Given the description of an element on the screen output the (x, y) to click on. 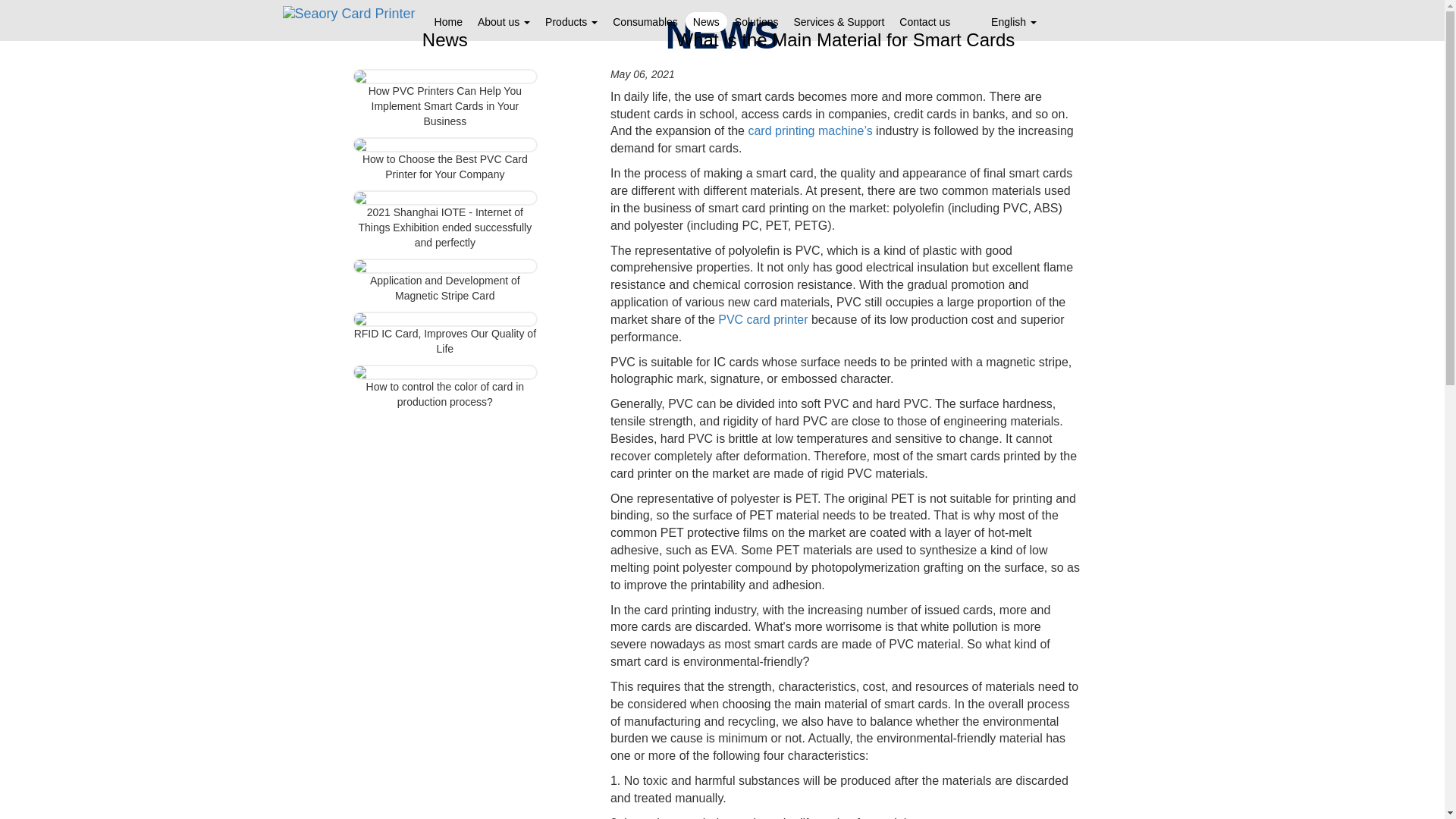
Consumables (645, 21)
News (705, 21)
About us (503, 21)
English (1006, 21)
Solutions (756, 21)
PVC card printer (762, 318)
Home (448, 21)
How to Choose the Best PVC Card Printer for Your Company (444, 166)
Contact us (924, 21)
Products (571, 21)
